Given the description of an element on the screen output the (x, y) to click on. 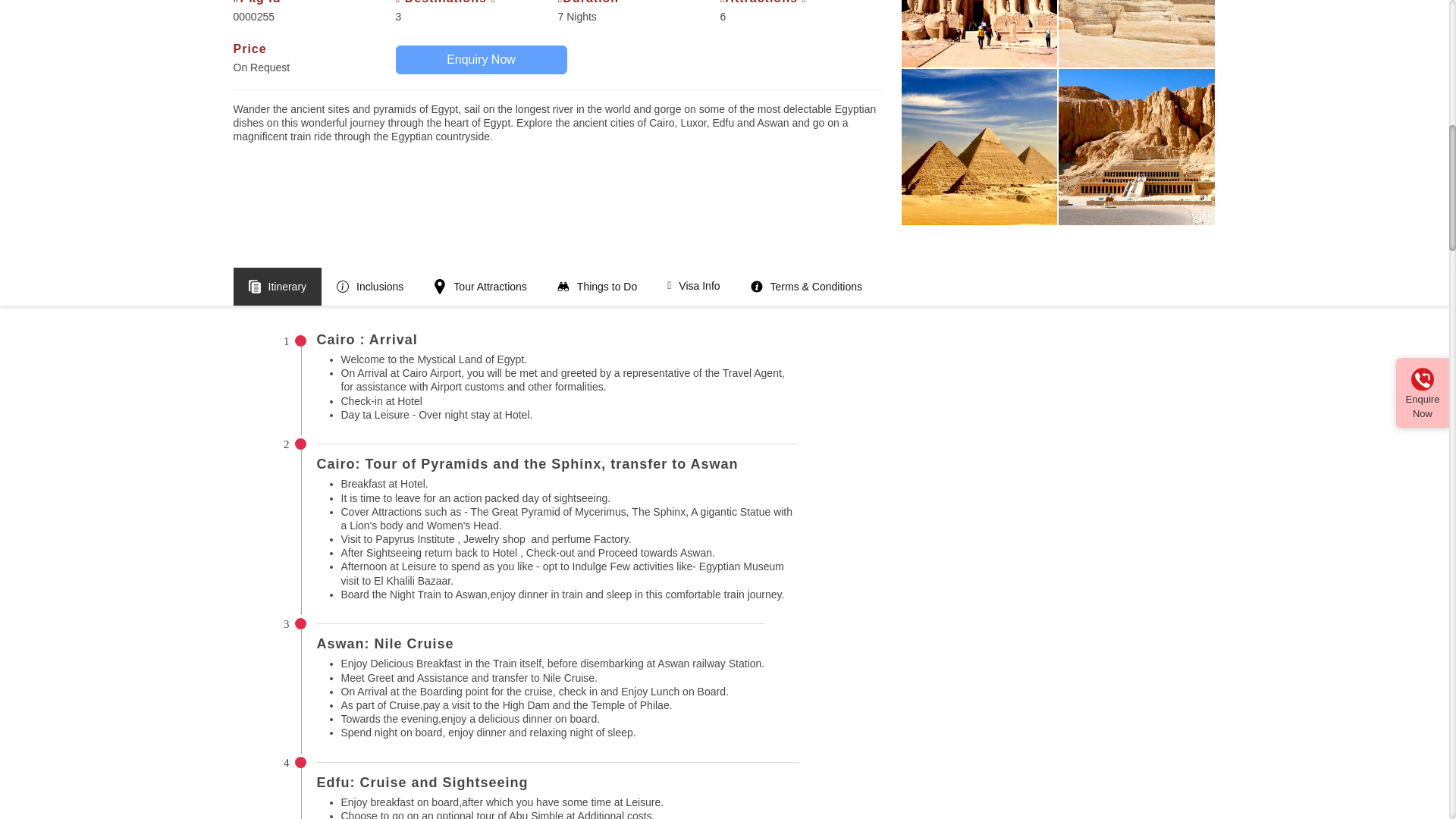
Enquiry Now (481, 59)
